Given the description of an element on the screen output the (x, y) to click on. 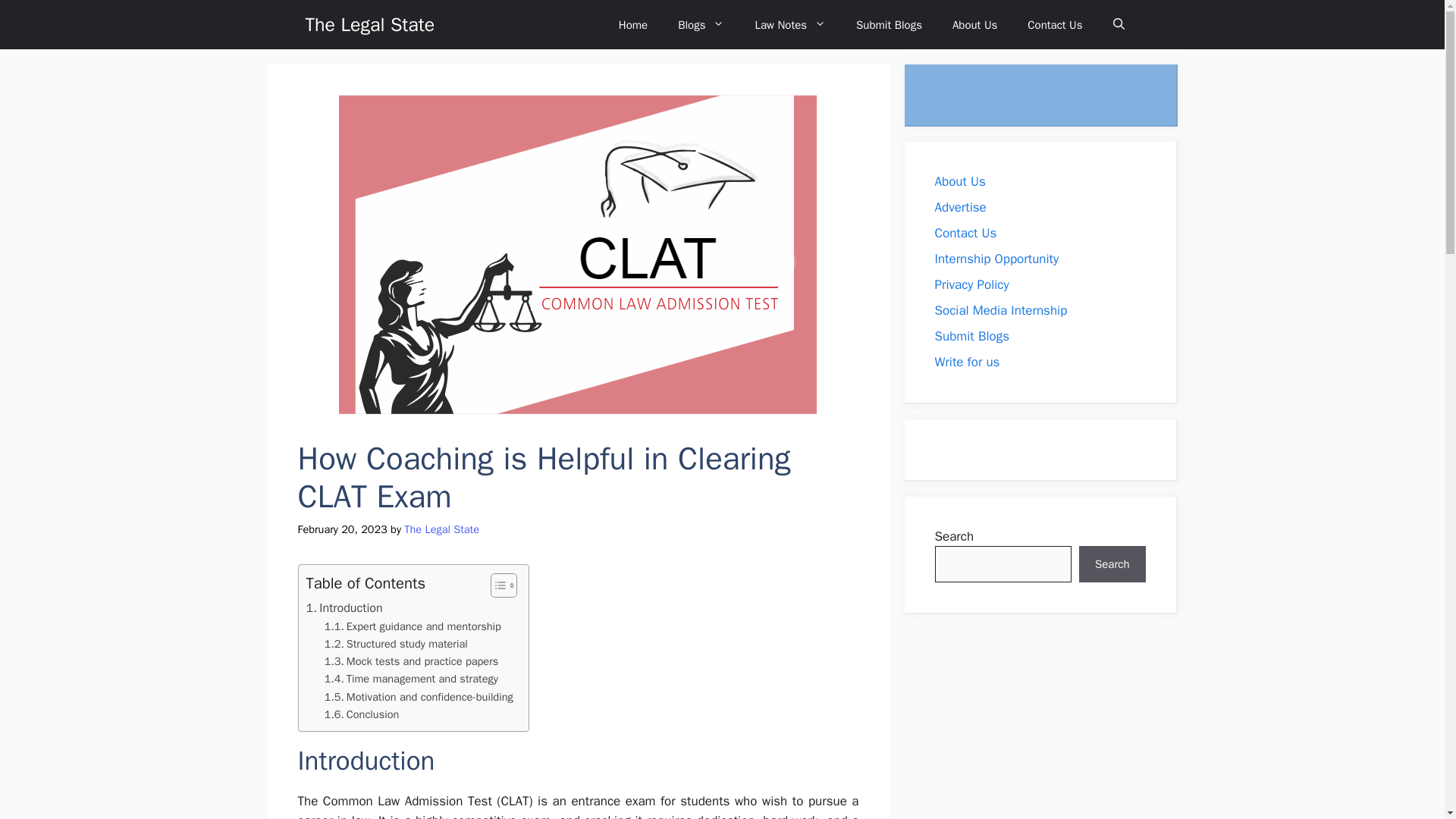
Motivation and confidence-building (418, 696)
About Us (974, 23)
Time management and strategy (410, 678)
Submit Blogs (889, 23)
Motivation and confidence-building (418, 696)
Blogs (700, 23)
Introduction (343, 608)
Contact Us (1054, 23)
Structured study material (395, 643)
Time management and strategy (410, 678)
Mock tests and practice papers (411, 661)
Conclusion (361, 714)
Mock tests and practice papers (411, 661)
Expert guidance and mentorship (412, 626)
Conclusion (361, 714)
